Given the description of an element on the screen output the (x, y) to click on. 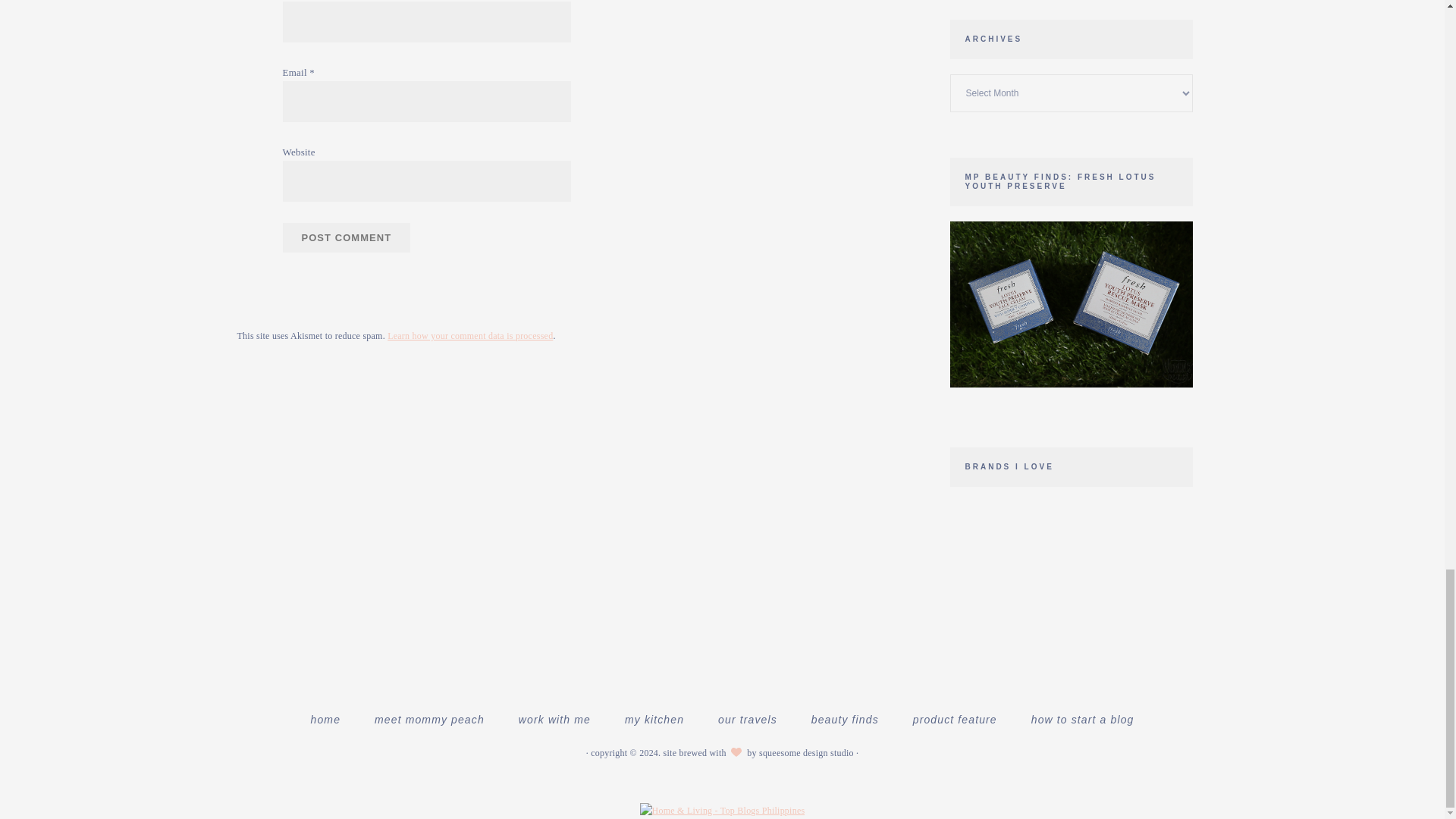
Post Comment (346, 237)
Learn how your comment data is processed (470, 335)
Post Comment (346, 237)
